Given the description of an element on the screen output the (x, y) to click on. 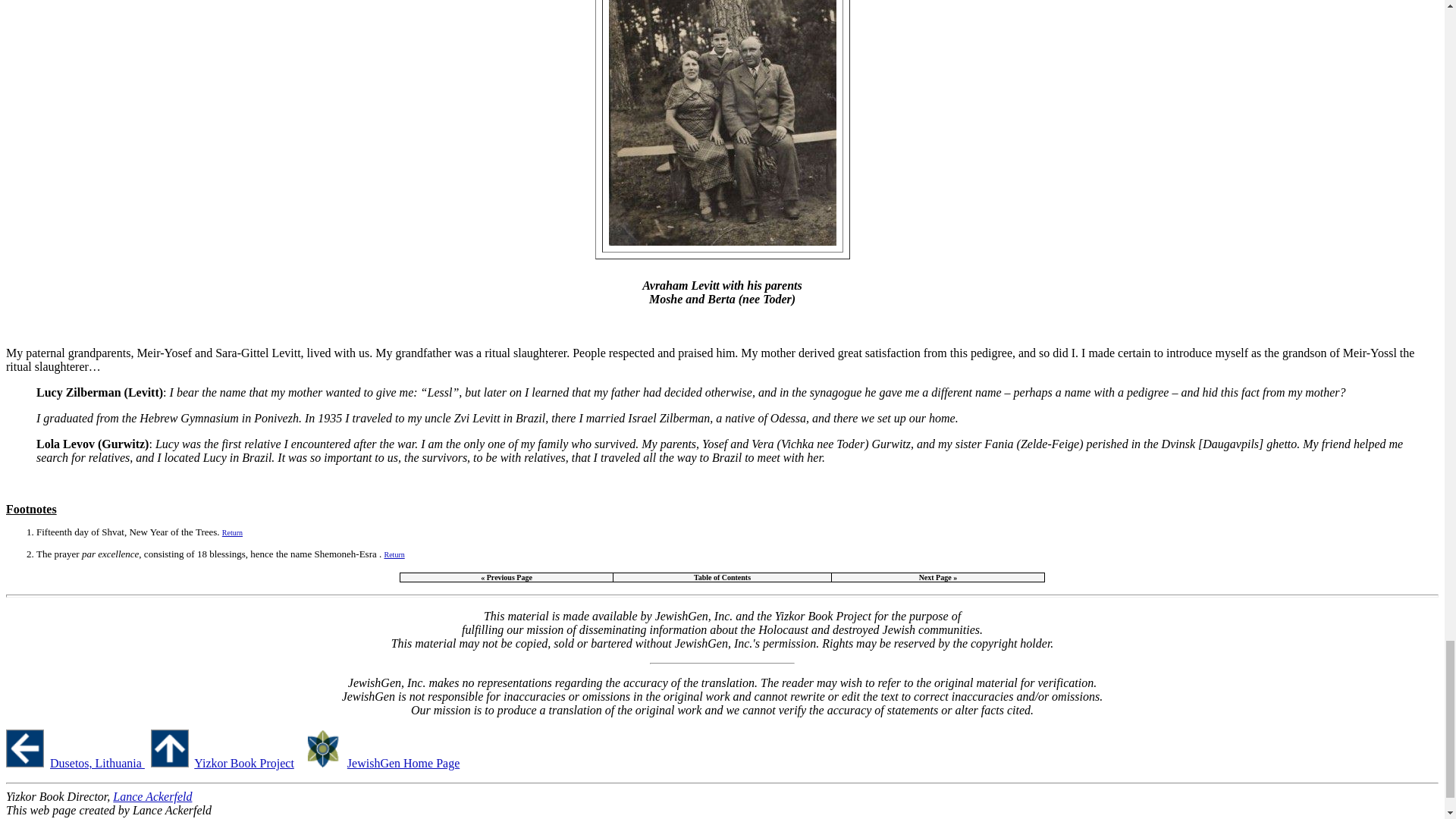
Table of Contents (722, 577)
Yizkor Book Project (243, 762)
Return (232, 531)
Dusetos, Lithuania (96, 762)
JewishGen Home Page (403, 762)
Lance Ackerfeld (152, 796)
Return (394, 553)
